Given the description of an element on the screen output the (x, y) to click on. 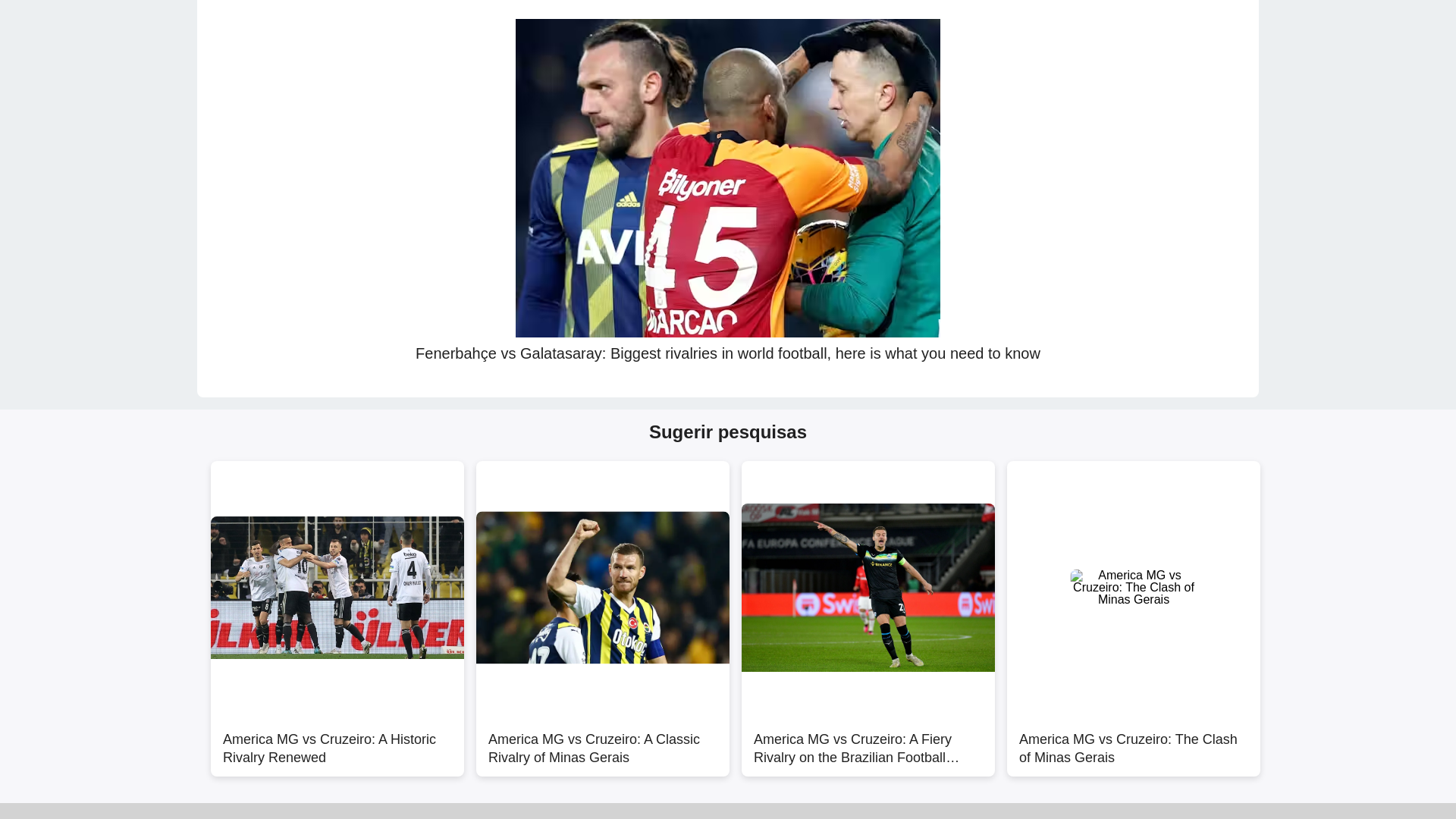
America MG vs Cruzeiro: A Historic Rivalry Renewed (337, 740)
America MG vs Cruzeiro: A Classic Rivalry of Minas Gerais (602, 740)
America MG vs Cruzeiro: The Clash of Minas Gerais (1133, 740)
